Given the description of an element on the screen output the (x, y) to click on. 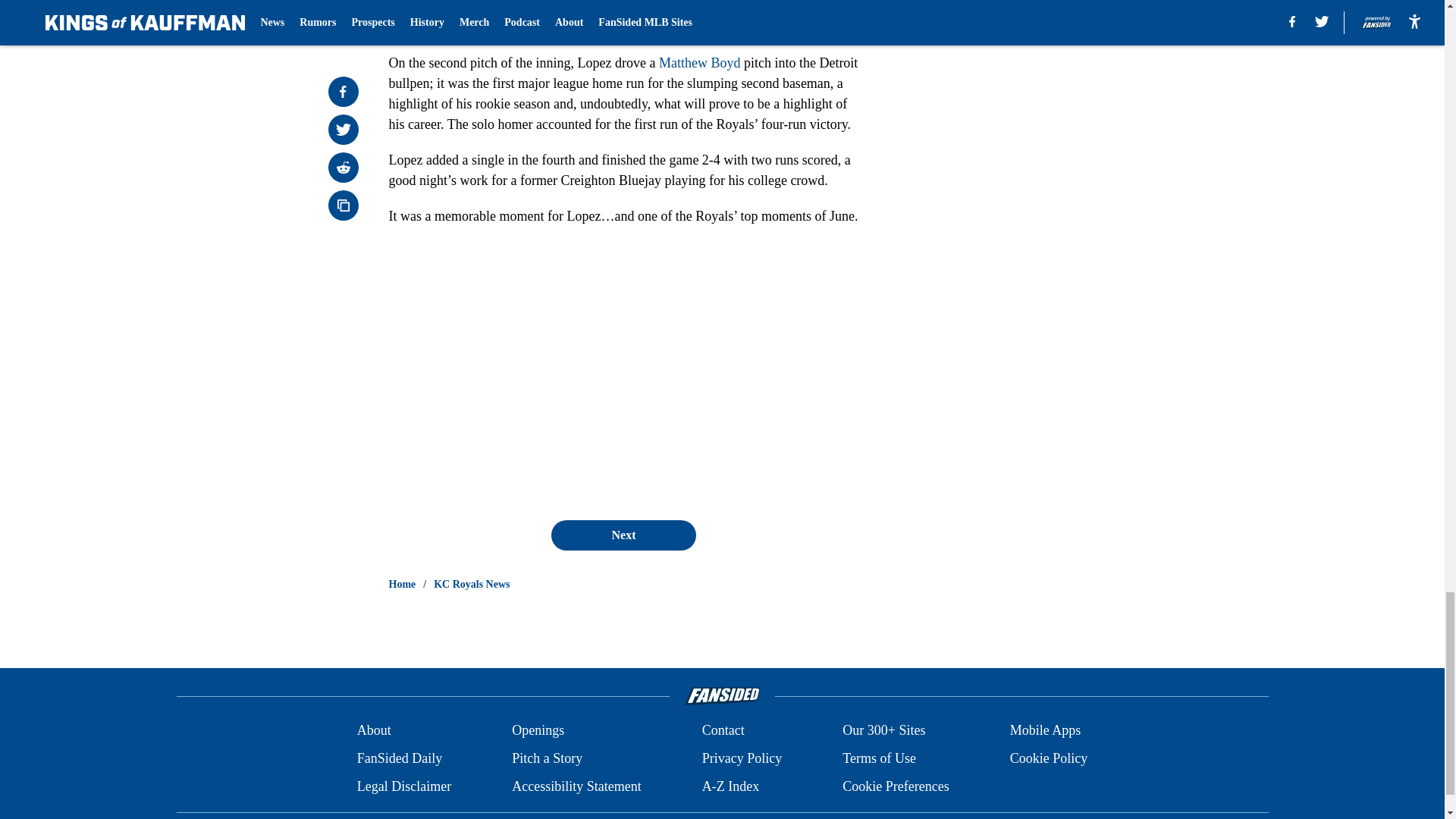
Pitch a Story (547, 758)
Matthew Boyd (700, 62)
Mobile Apps (1045, 730)
KC Royals News (471, 584)
Home (401, 584)
Next (622, 535)
Contact (722, 730)
About (373, 730)
Privacy Policy (742, 758)
FanSided Daily (399, 758)
